Given the description of an element on the screen output the (x, y) to click on. 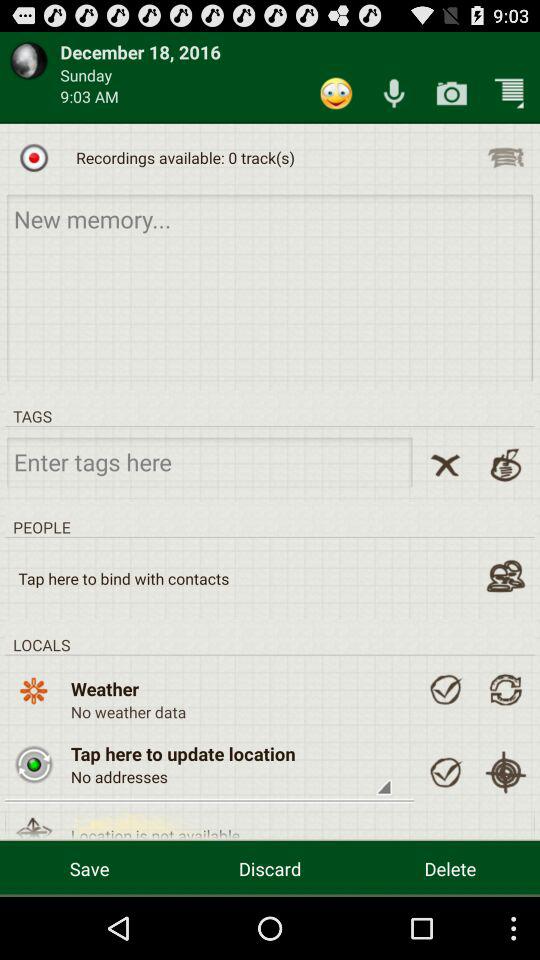
weather setting option (445, 689)
